Given the description of an element on the screen output the (x, y) to click on. 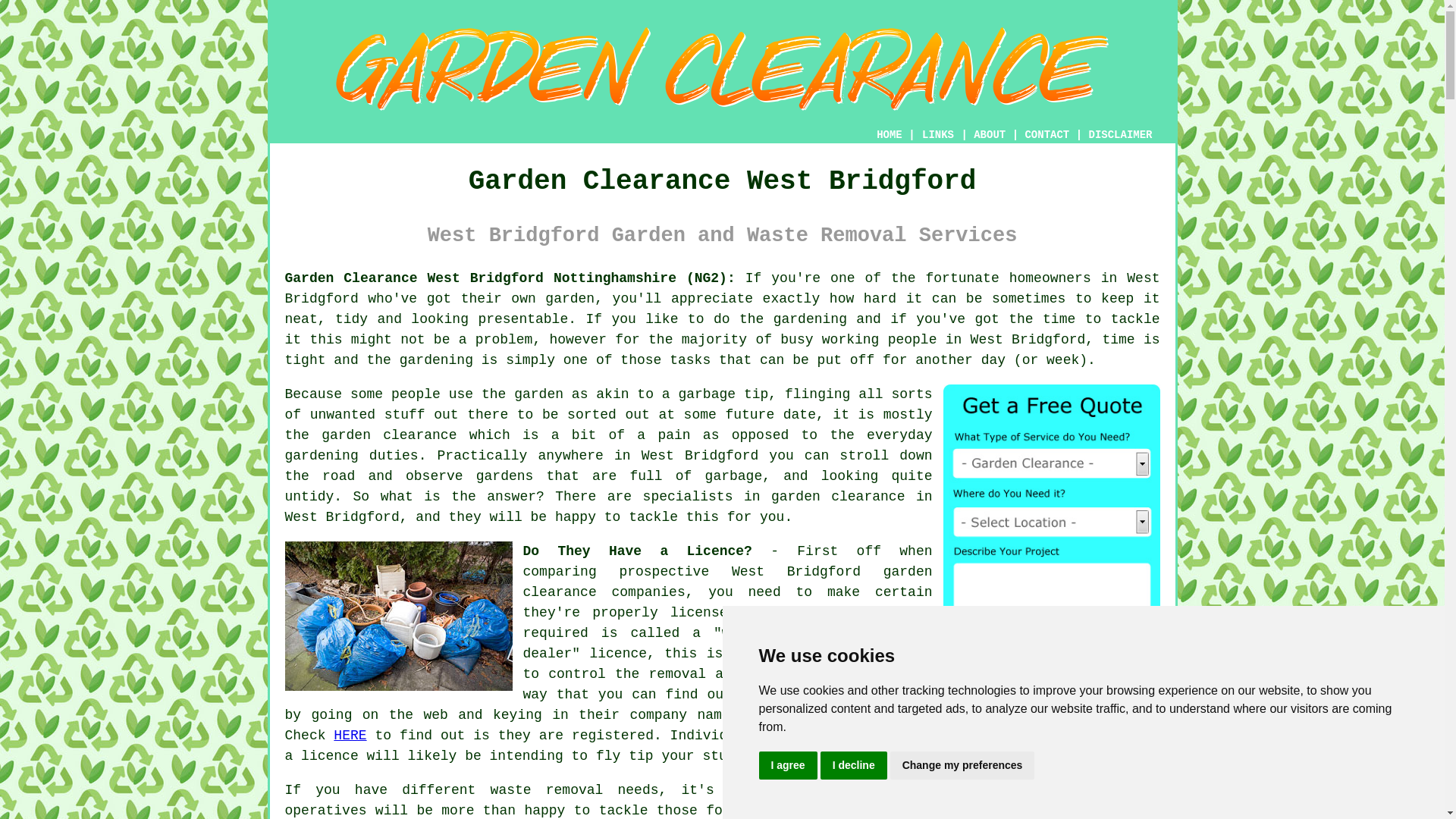
garden clearance (1090, 789)
garden (538, 394)
HOME (889, 134)
licensed (874, 694)
HERE (349, 735)
I agree (787, 765)
waste carrier, broker or dealer licence (727, 642)
Change my preferences (962, 765)
garden (569, 298)
garden clearance (727, 581)
fly tip (624, 755)
Garden Clearance West Bridgford (721, 69)
LINKS (938, 134)
gardening (810, 319)
I decline (853, 765)
